Given the description of an element on the screen output the (x, y) to click on. 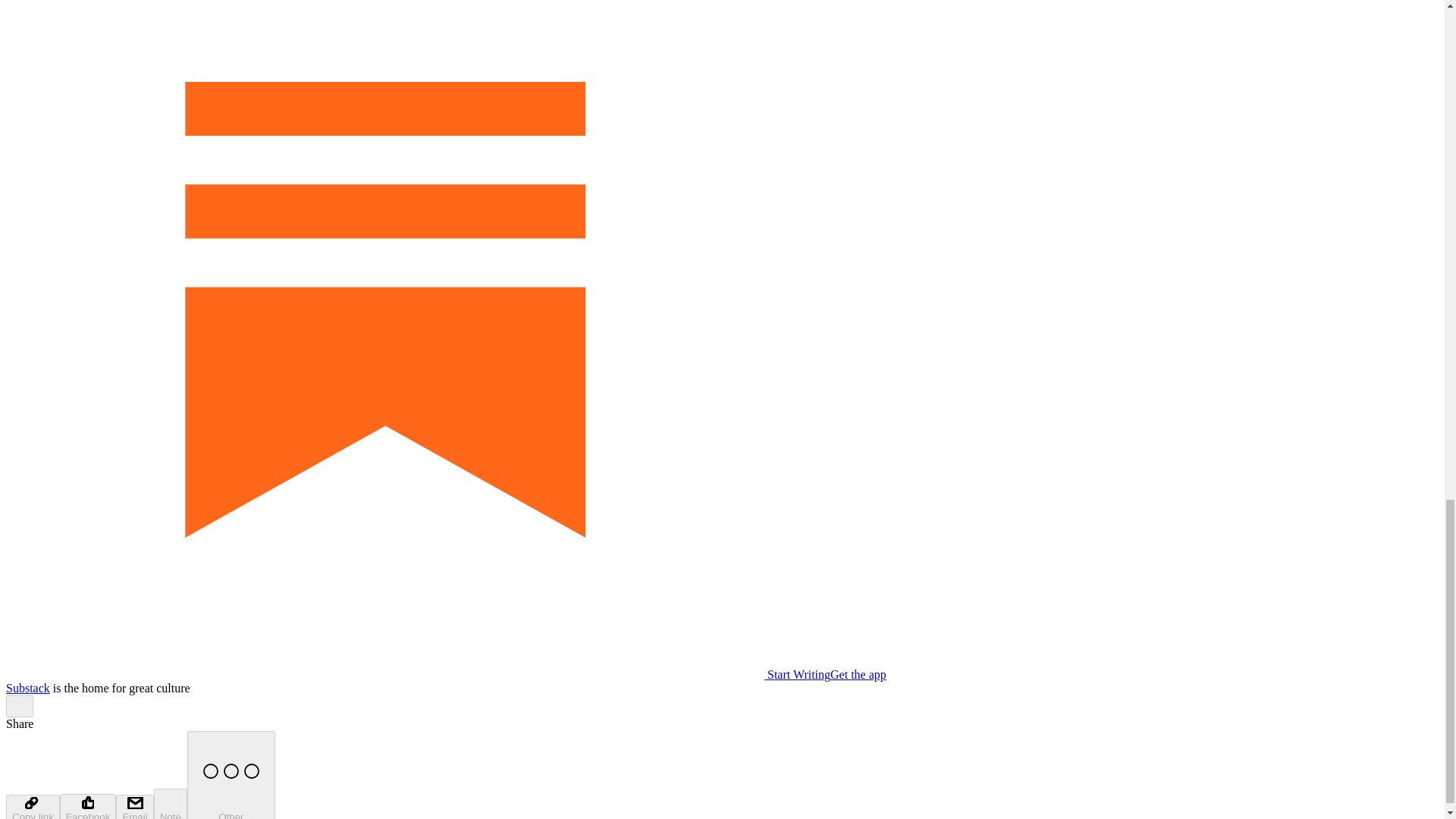
Get the app (857, 674)
Start Writing (417, 674)
Substack (27, 687)
